Given the description of an element on the screen output the (x, y) to click on. 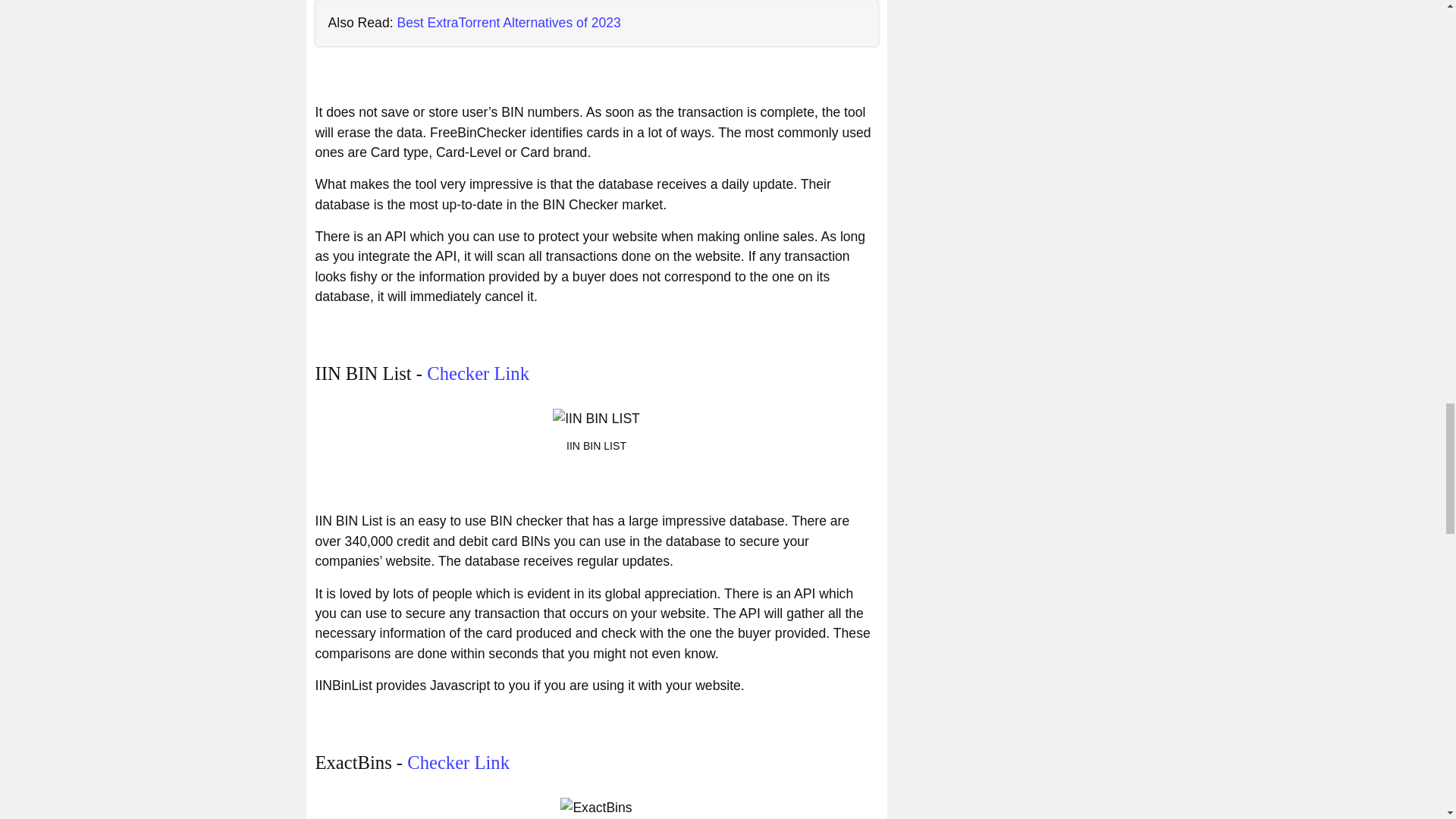
Best ExtraTorrent Alternatives of 2023 (508, 22)
Checker Link (458, 762)
Checker Link (477, 373)
